Given the description of an element on the screen output the (x, y) to click on. 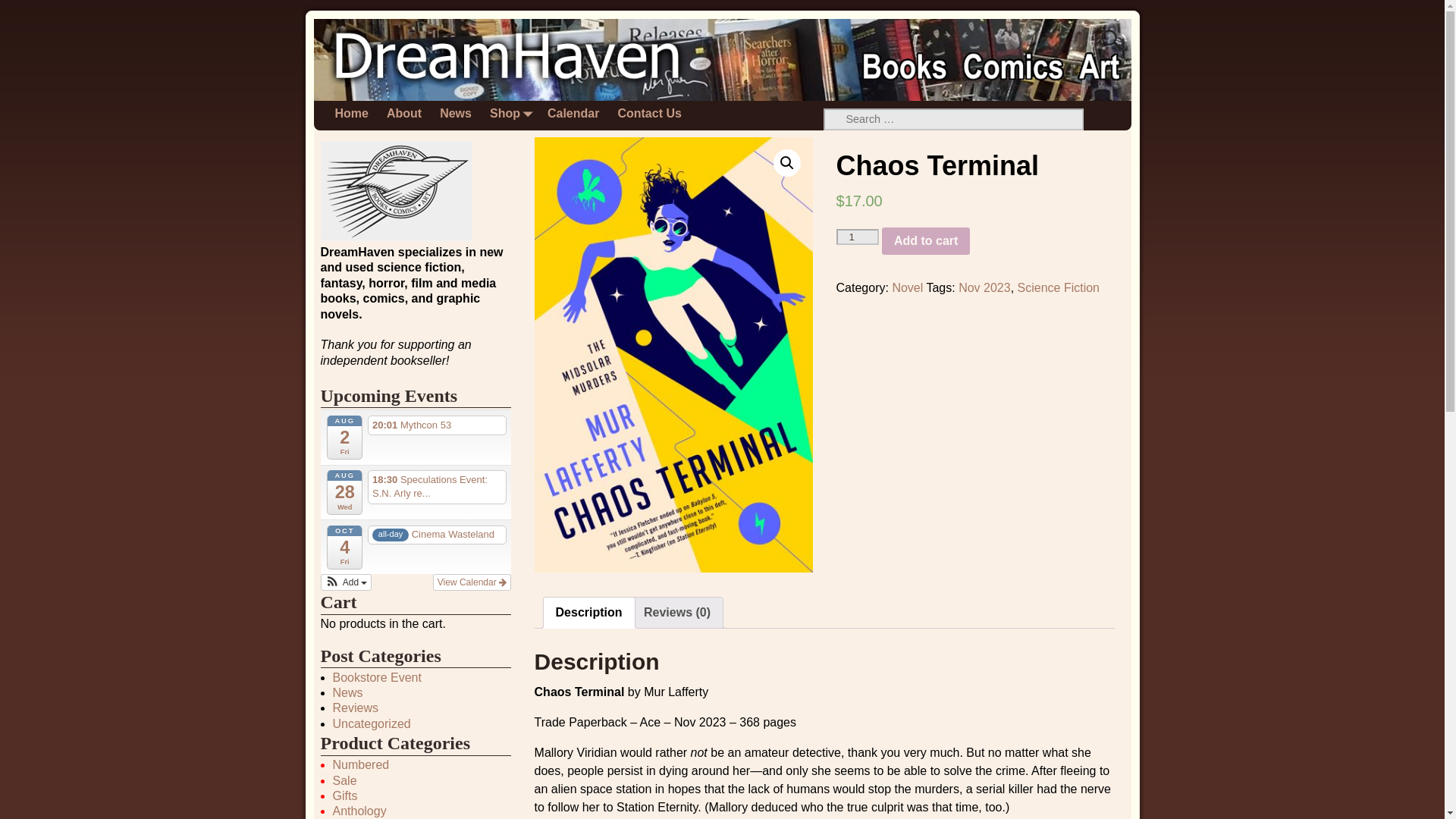
Novel (907, 287)
Description (589, 612)
Qty (857, 236)
Home (351, 113)
Calendar (573, 113)
Chaos Terminal (673, 354)
Nov 2023 (984, 287)
Science Fiction (1058, 287)
About (403, 113)
Contact Us (649, 113)
1 (857, 236)
Search for: (954, 119)
News (455, 113)
Shop (509, 113)
Add to cart (925, 240)
